Given the description of an element on the screen output the (x, y) to click on. 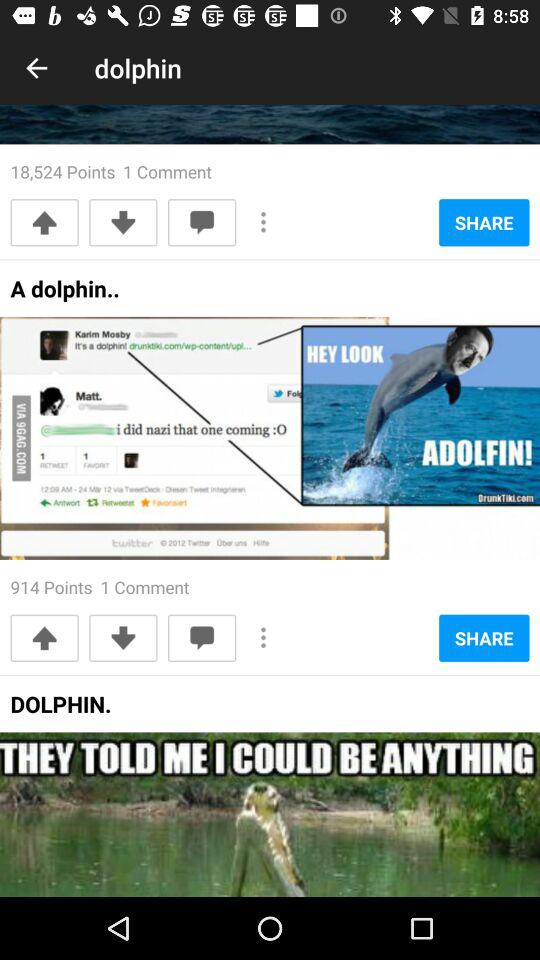
flip to the dolphin. (60, 710)
